Given the description of an element on the screen output the (x, y) to click on. 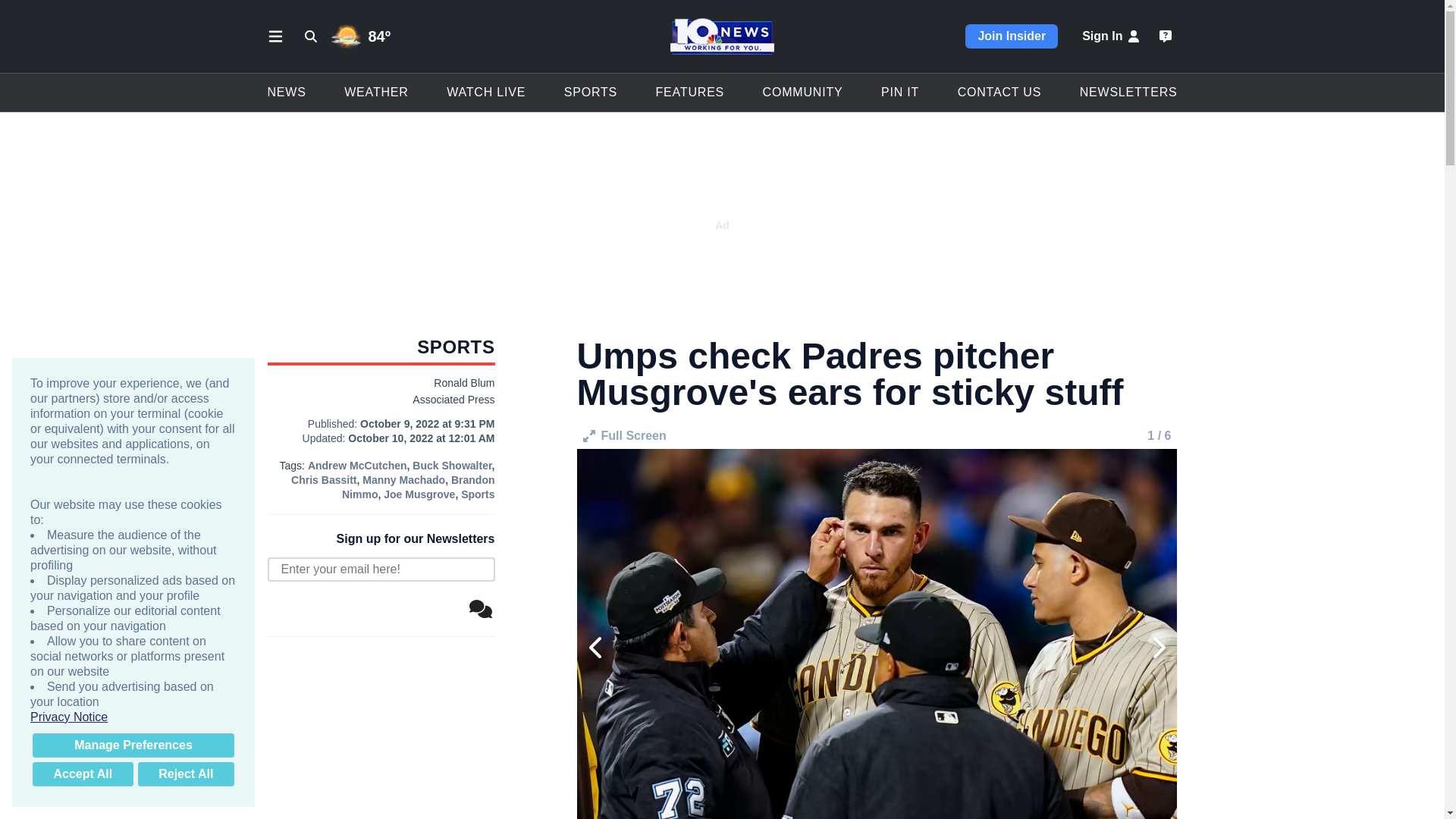
Reject All (185, 774)
Join Insider (1011, 36)
Accept All (82, 774)
Sign In (1111, 36)
Manage Preferences (133, 745)
Privacy Notice (132, 717)
